Given the description of an element on the screen output the (x, y) to click on. 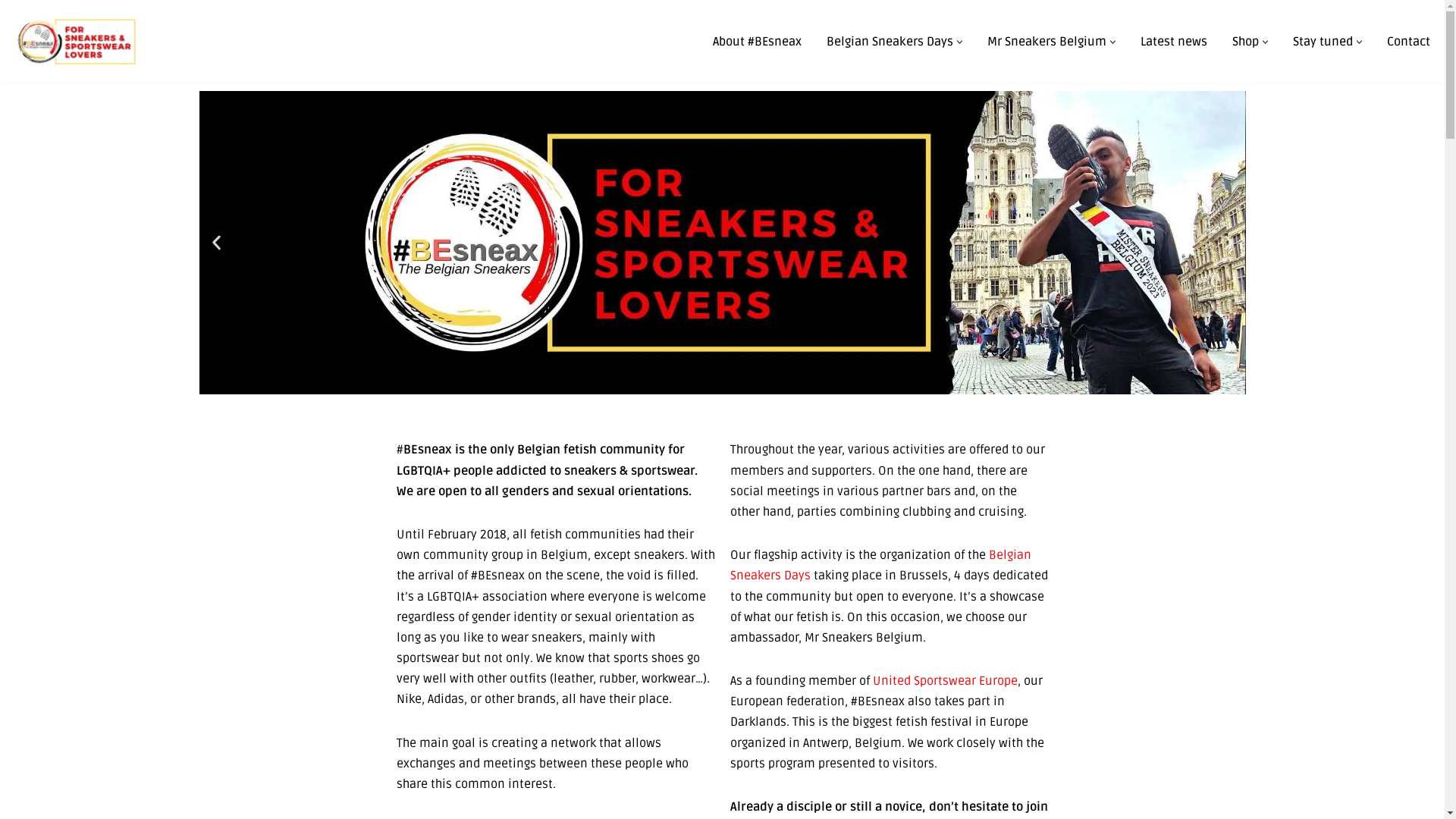
Belgian Sneakers Days Element type: text (889, 41)
Contact Element type: text (1408, 41)
About #BEsneax Element type: text (756, 41)
Stay tuned Element type: text (1322, 41)
Belgian Sneakers Days Element type: text (879, 565)
United Sportswear Europe Element type: text (944, 680)
Latest news Element type: text (1173, 41)
Mr Sneakers Belgium Element type: text (1046, 41)
Skip to content Element type: text (11, 31)
Shop Element type: text (1245, 41)
